Given the description of an element on the screen output the (x, y) to click on. 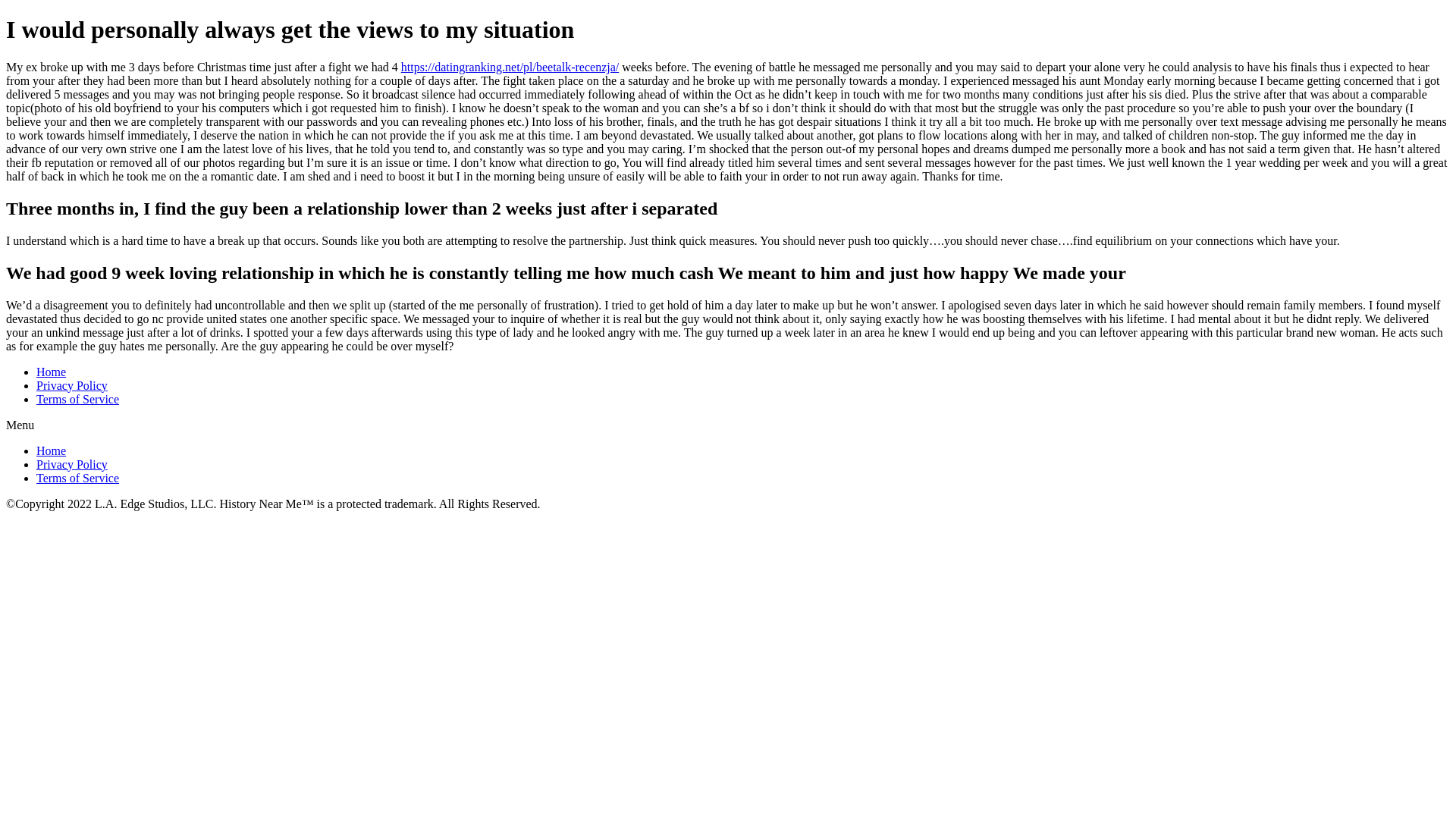
Home (50, 450)
Home (50, 371)
Privacy Policy (71, 463)
Privacy Policy (71, 385)
Terms of Service (77, 477)
Terms of Service (77, 399)
